Given the description of an element on the screen output the (x, y) to click on. 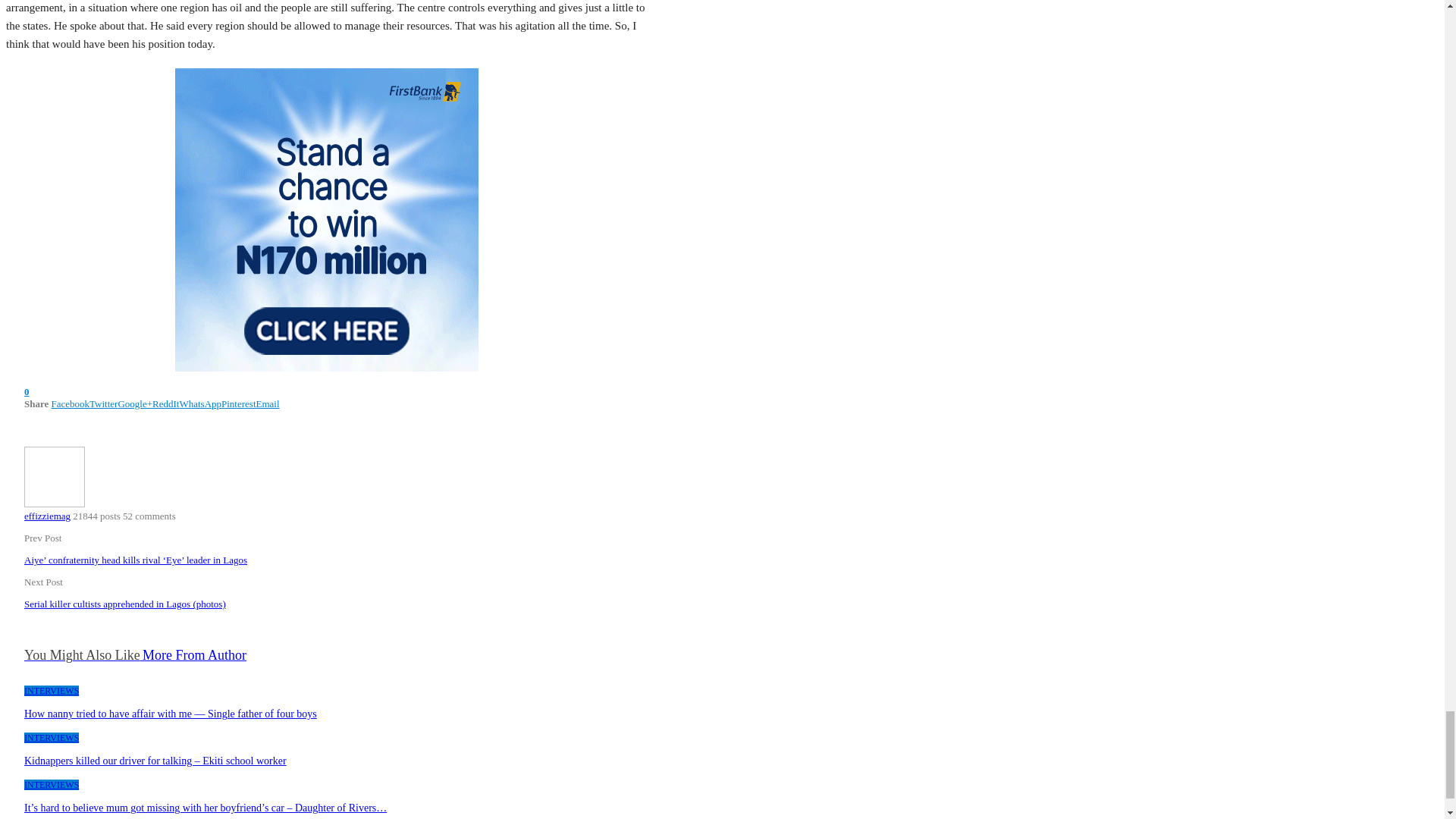
Browse Author Articles (54, 503)
